Given the description of an element on the screen output the (x, y) to click on. 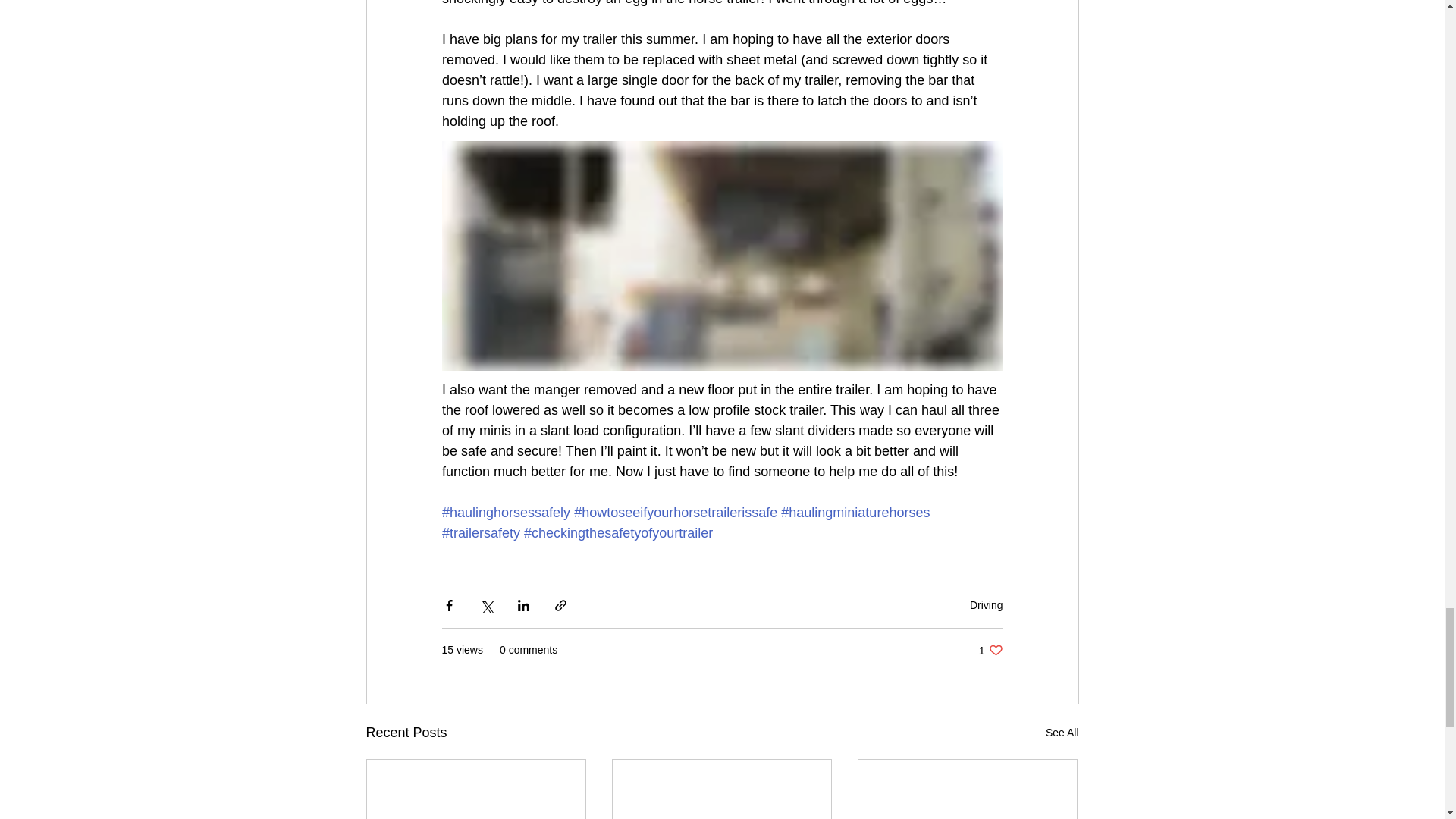
Driving (986, 604)
See All (990, 649)
